Given the description of an element on the screen output the (x, y) to click on. 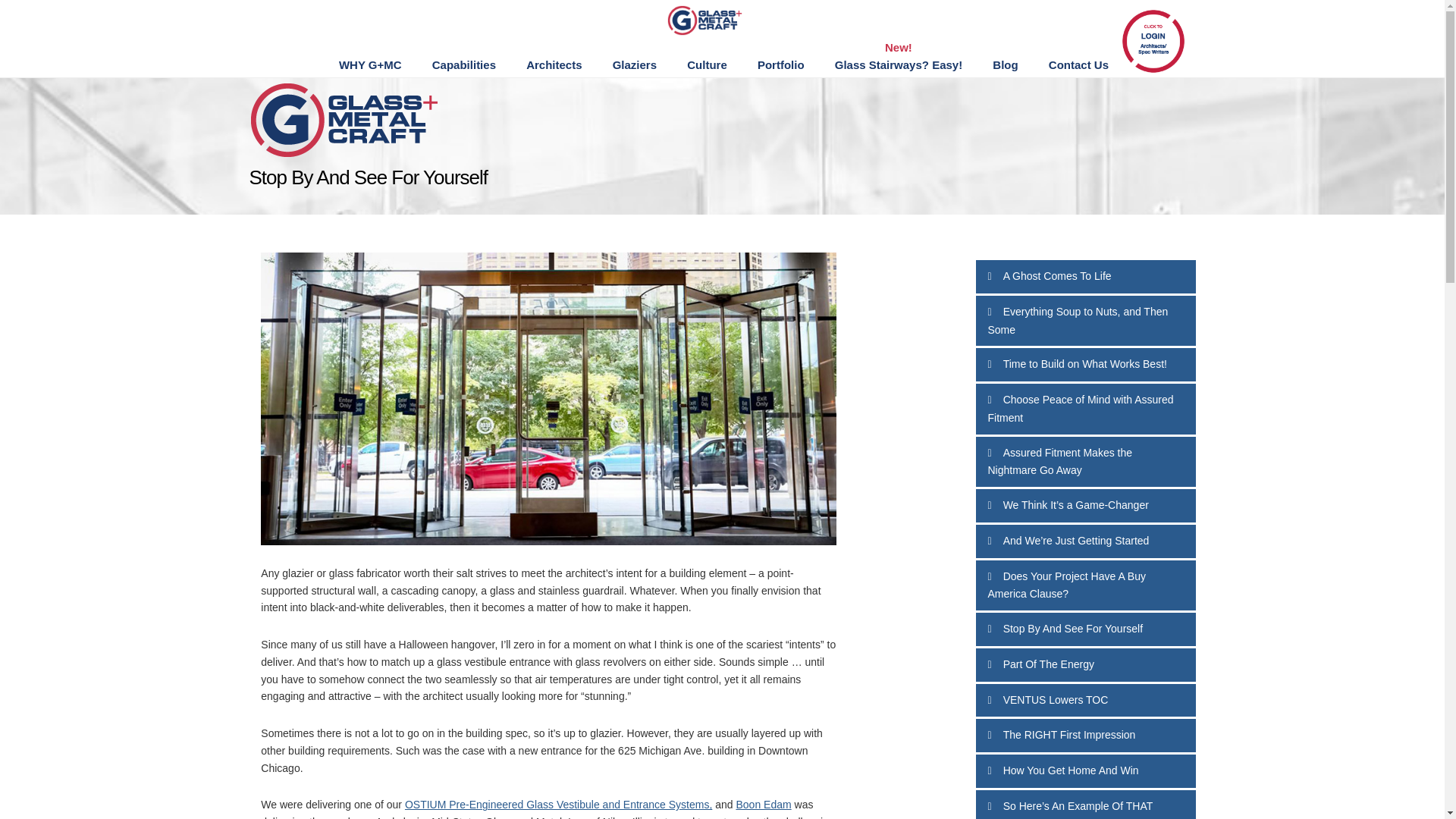
Portfolio (780, 65)
GLASS AND METAL CRAFT (719, 20)
Glaziers (633, 65)
Capabilities (463, 65)
Culture (706, 65)
Architects (553, 65)
